Given the description of an element on the screen output the (x, y) to click on. 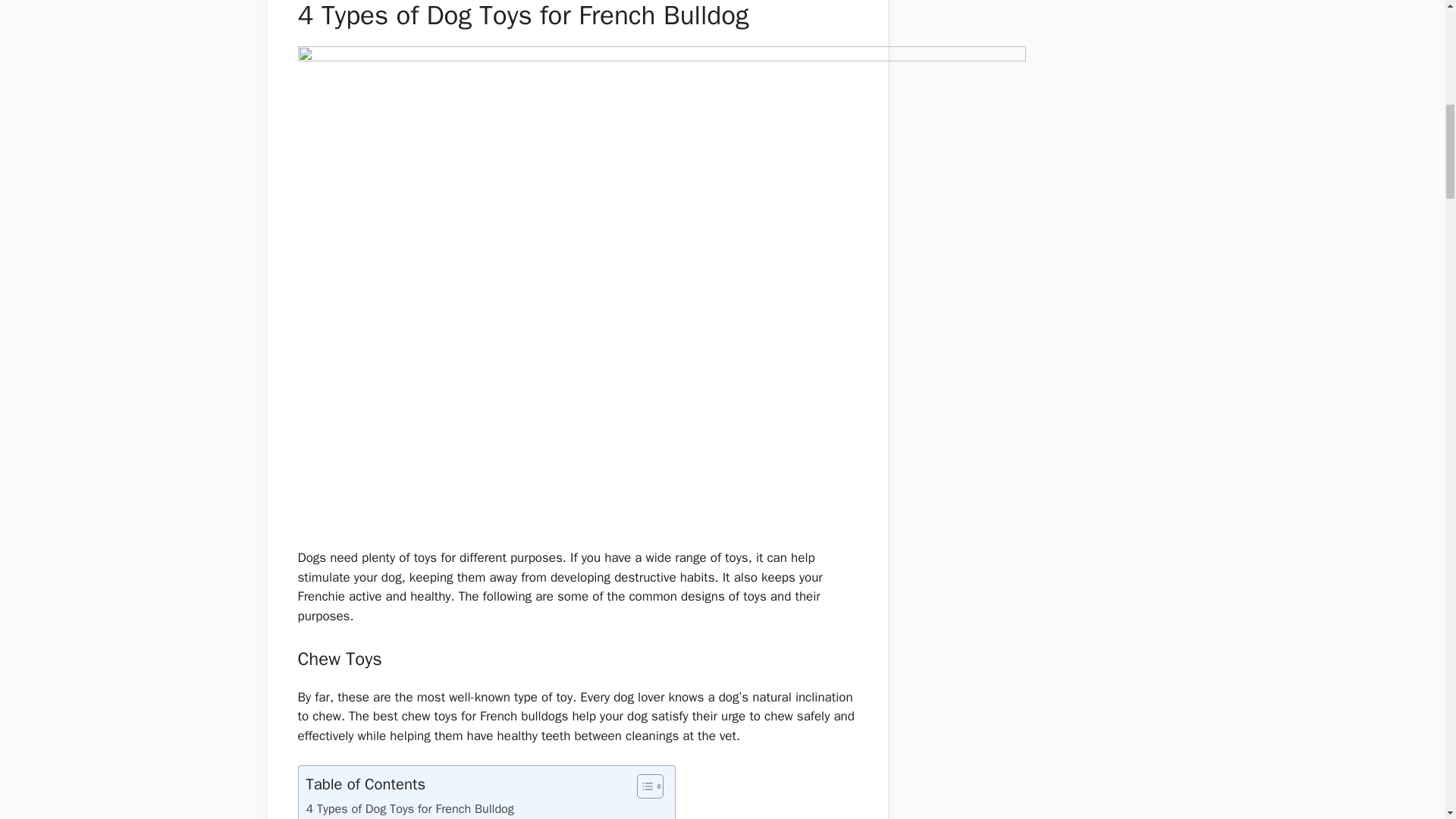
4 Types of Dog Toys for French Bulldog (409, 809)
4 Types of Dog Toys for French Bulldog (409, 809)
